Given the description of an element on the screen output the (x, y) to click on. 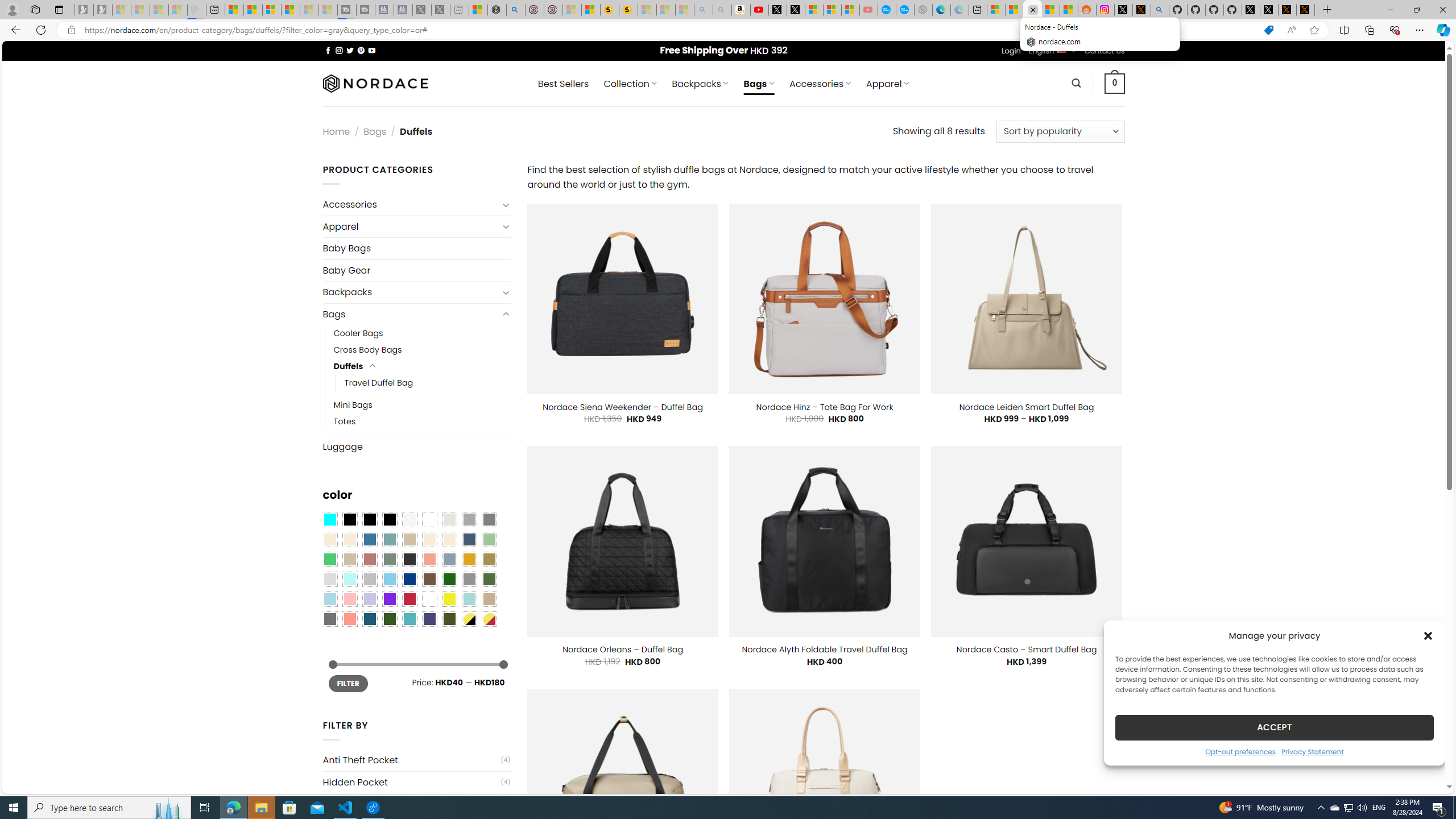
Opt-out preferences (1240, 750)
Coral (429, 559)
Yellow-Red (488, 618)
Yellow (449, 599)
